Given the description of an element on the screen output the (x, y) to click on. 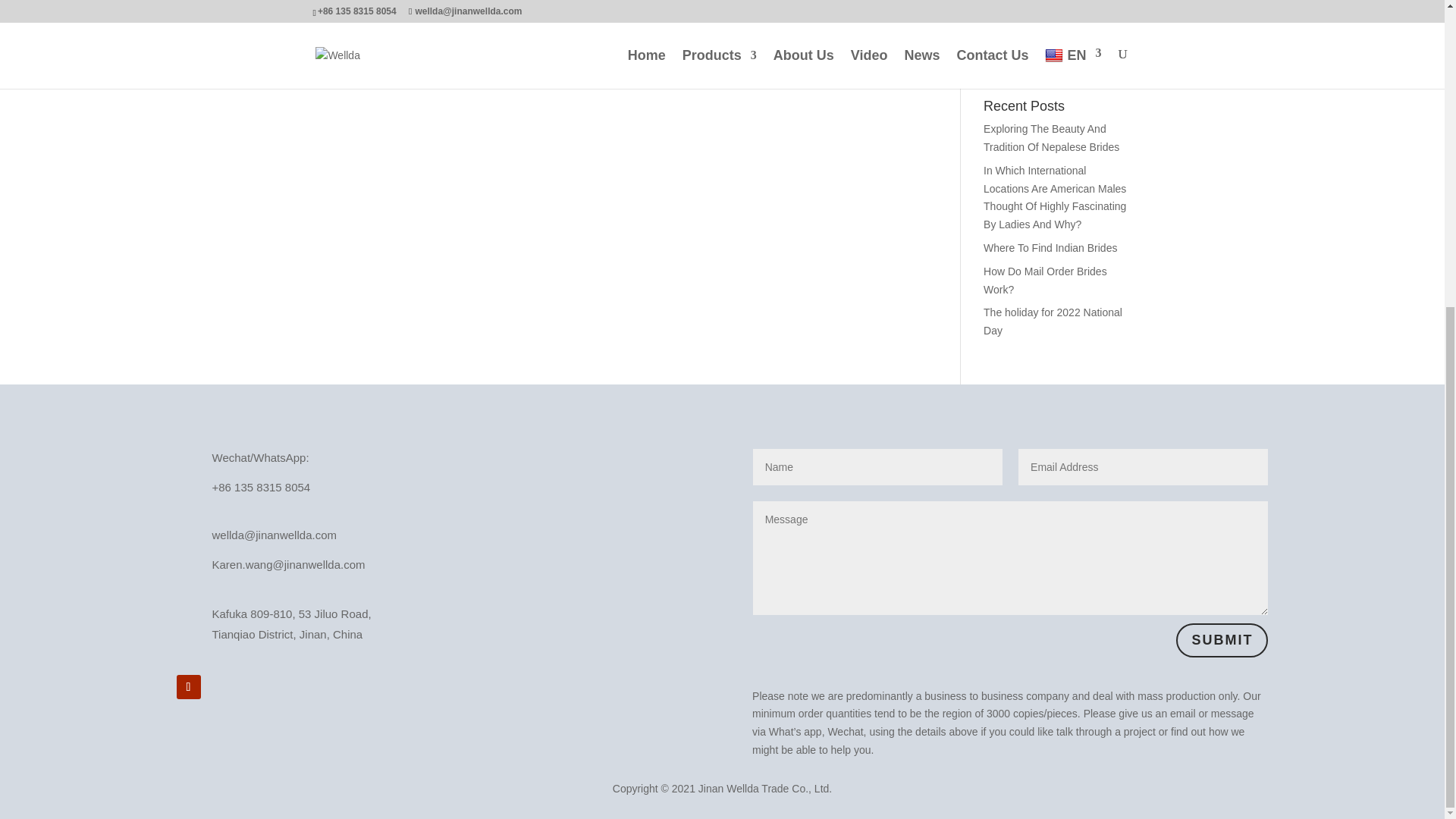
Follow on Youtube (188, 686)
